Given the description of an element on the screen output the (x, y) to click on. 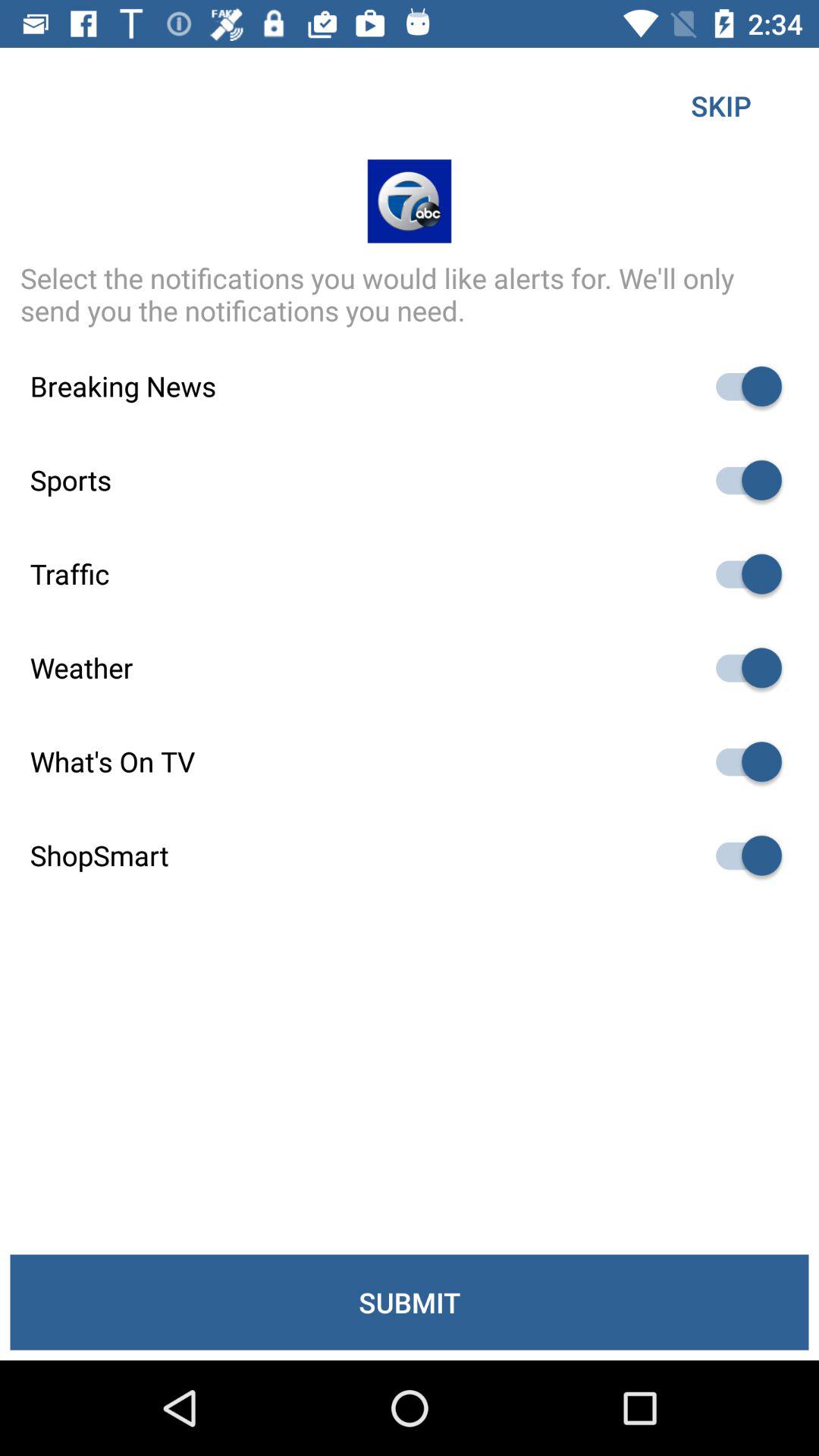
toggle traffic option (741, 574)
